Given the description of an element on the screen output the (x, y) to click on. 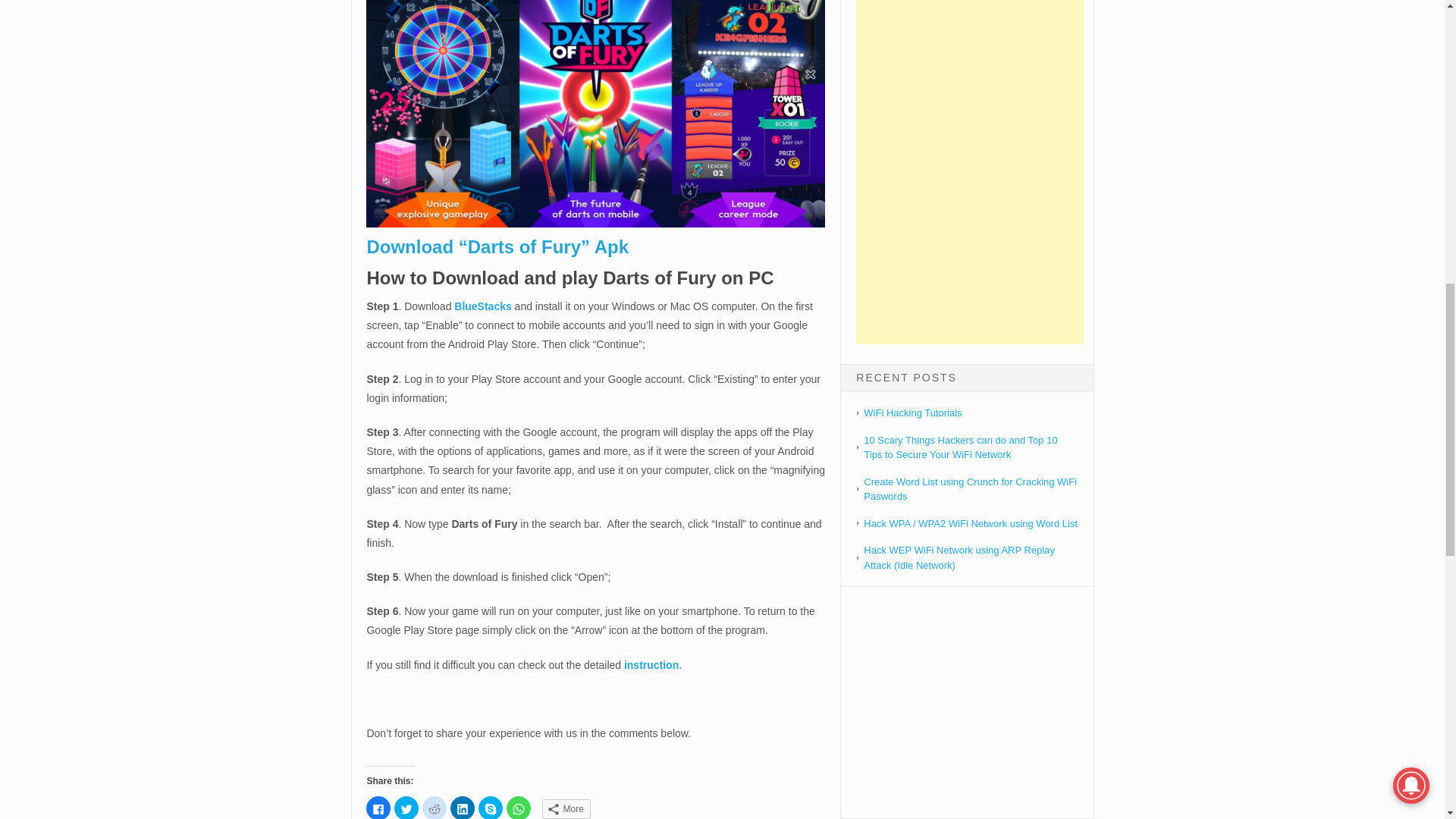
Click to share on WhatsApp (518, 807)
instruction (651, 664)
Click to share on Twitter (406, 807)
BlueStacks (482, 306)
More (565, 809)
Click to share on Skype (490, 807)
Click to share on LinkedIn (461, 807)
Click to share on Reddit (434, 807)
Click to share on Facebook (378, 807)
